Given the description of an element on the screen output the (x, y) to click on. 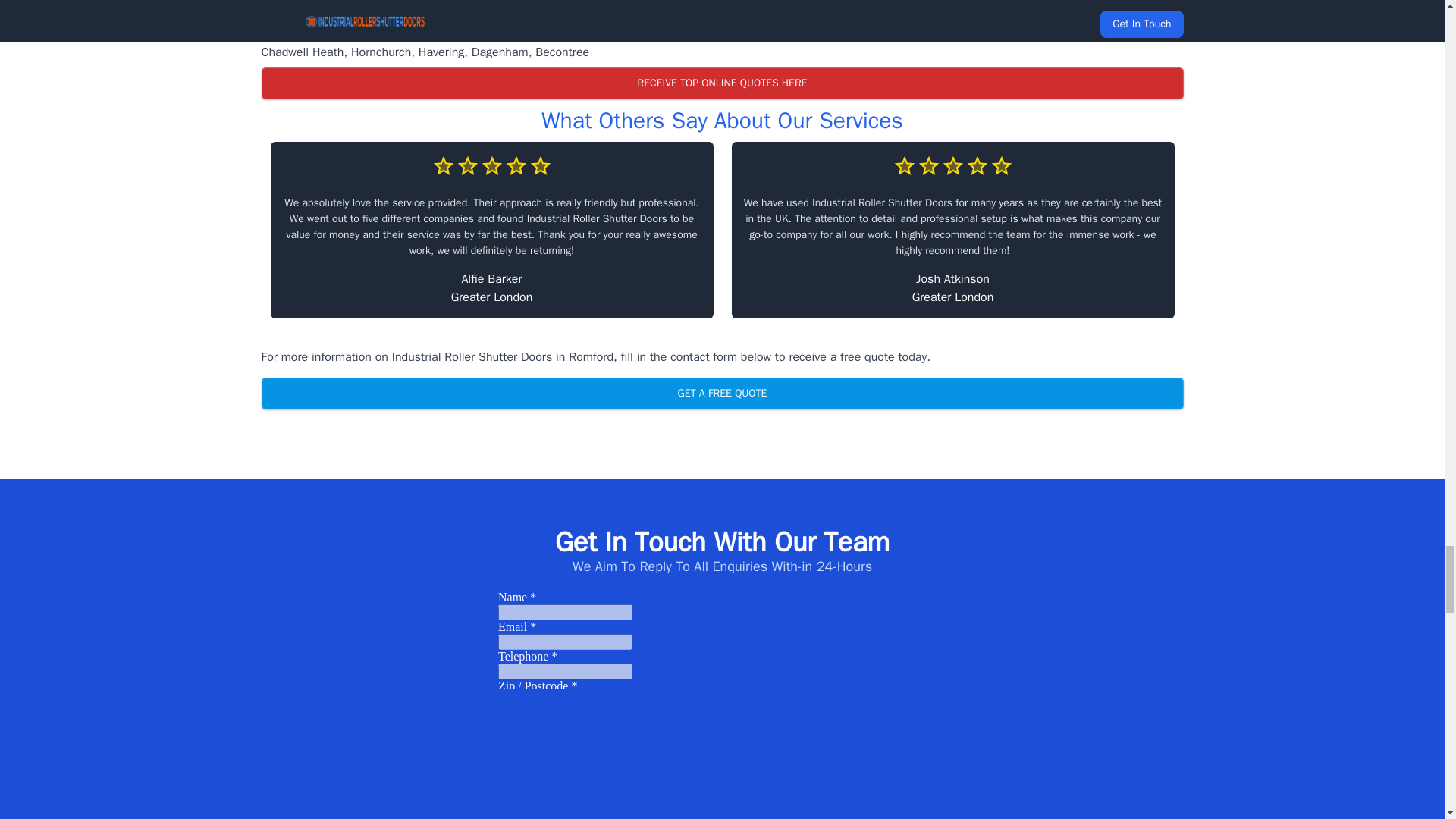
GET A FREE QUOTE (721, 393)
Havering (441, 52)
Chadwell Heath (301, 52)
Becontree (562, 52)
Dagenham (499, 52)
RECEIVE TOP ONLINE QUOTES HERE (721, 83)
Hornchurch (380, 52)
